Given the description of an element on the screen output the (x, y) to click on. 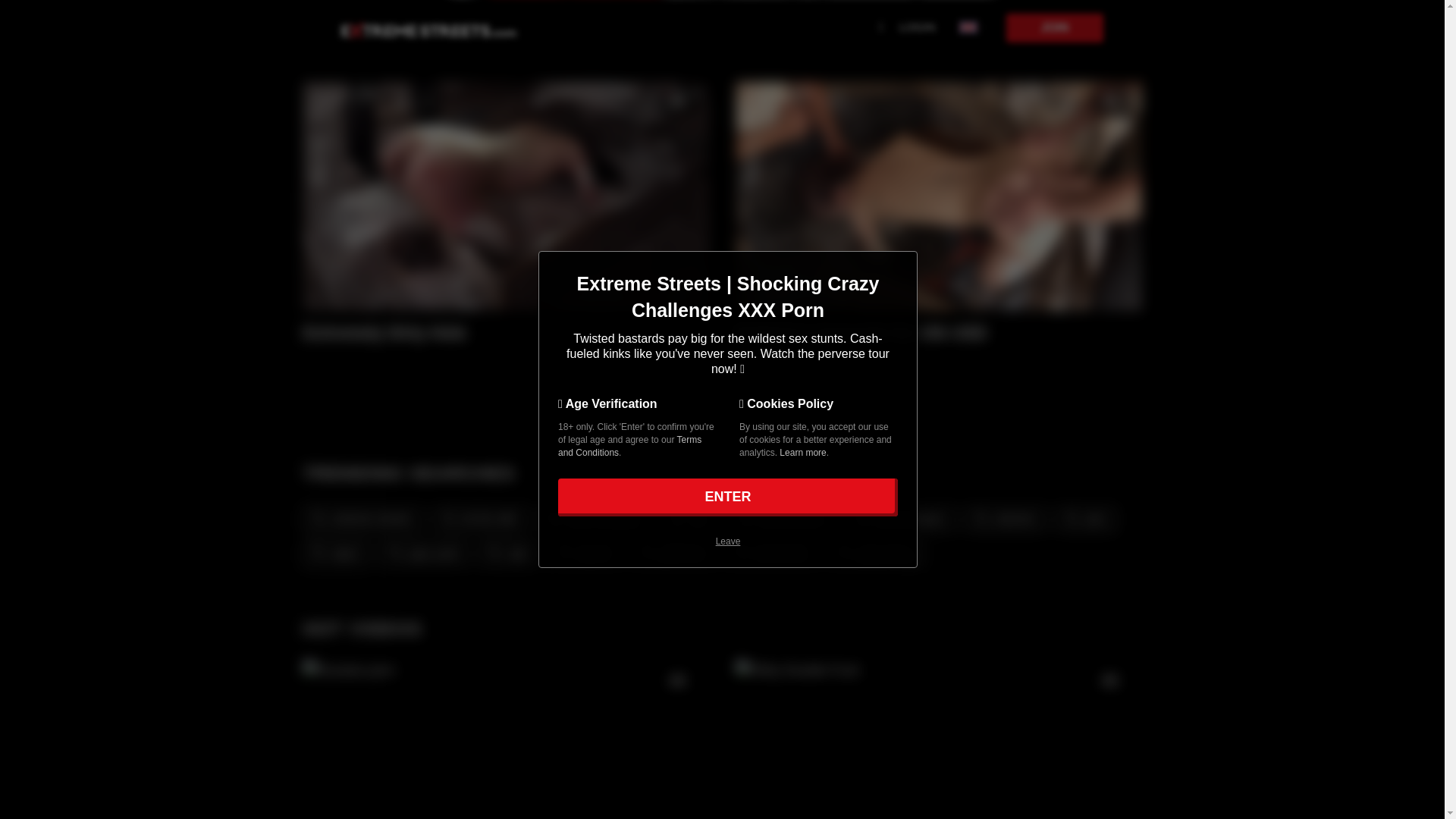
ENTER Extreme Streets (727, 497)
girlfriend (669, 552)
anal extreme (778, 517)
big clit (582, 552)
Leave (728, 541)
julia north (420, 552)
LOGIN (916, 26)
JOIN (1054, 27)
extreme (1002, 517)
extreme streets (357, 517)
do the wife (475, 517)
piss (1083, 517)
gang bang (871, 552)
silent (333, 552)
Extremely Dirty Hole (486, 332)
